Given the description of an element on the screen output the (x, y) to click on. 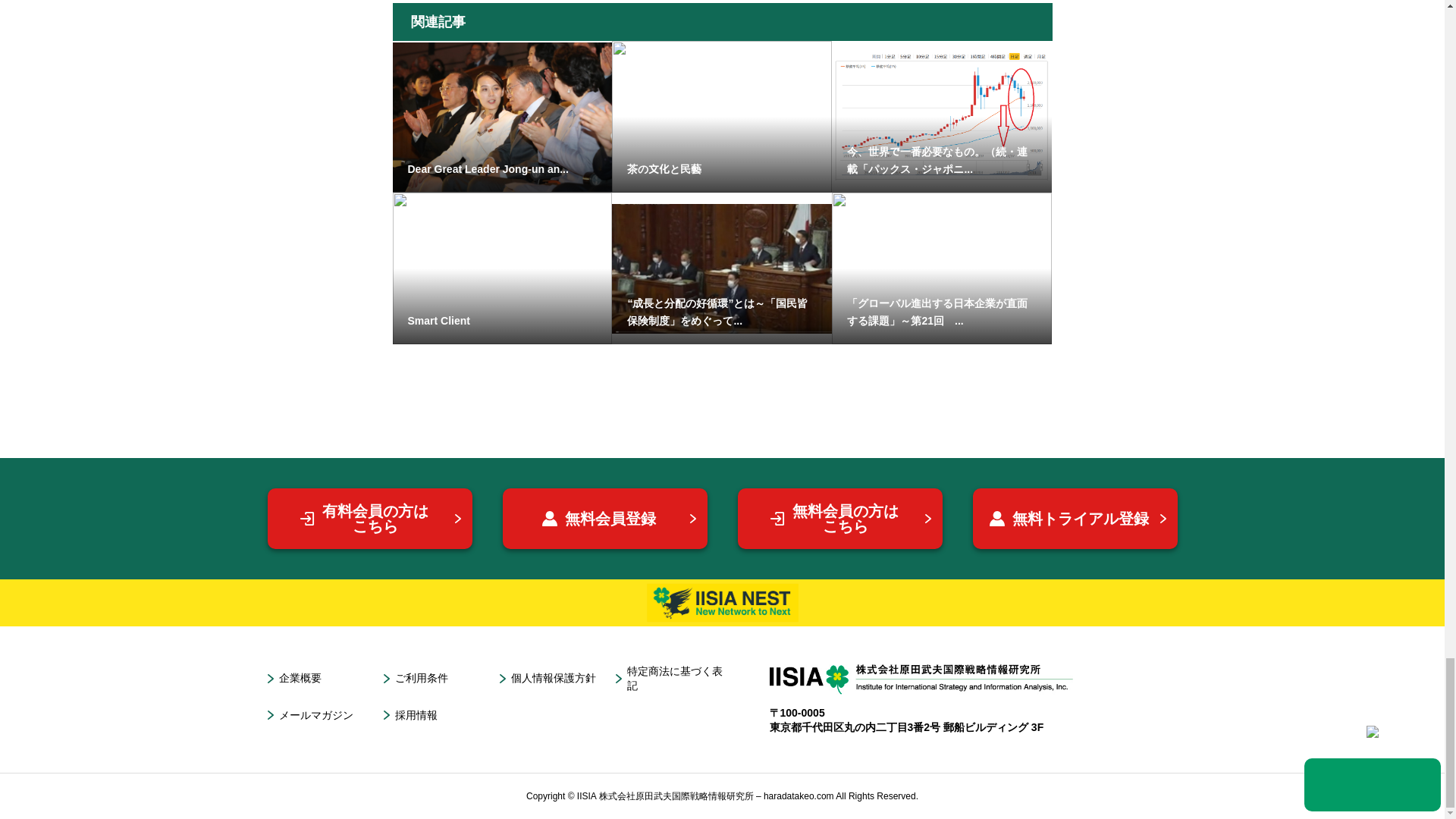
Dear Great Leader Jong-un an... (502, 116)
